Given the description of an element on the screen output the (x, y) to click on. 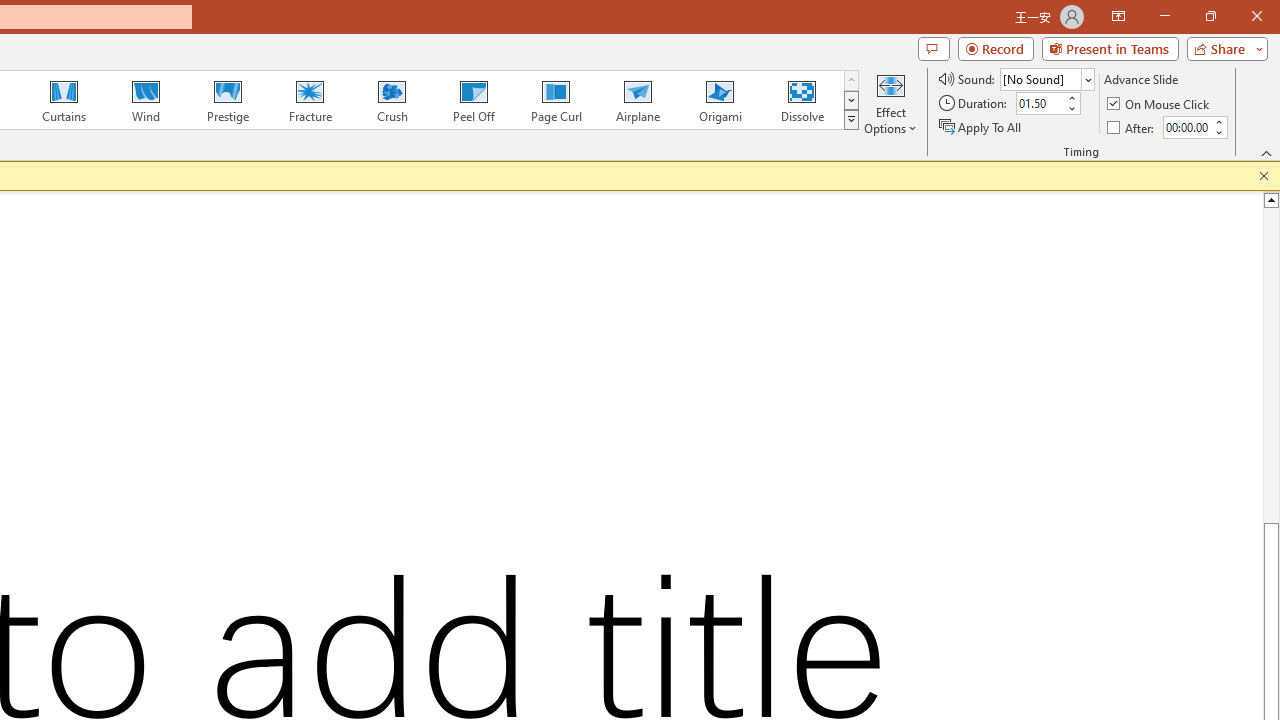
On Mouse Click (1159, 103)
Crush (391, 100)
Fracture (309, 100)
More (1218, 121)
Sound (1046, 78)
After (1131, 126)
Effect Options (890, 102)
Less (1218, 132)
Dissolve (802, 100)
Page Curl (555, 100)
